Given the description of an element on the screen output the (x, y) to click on. 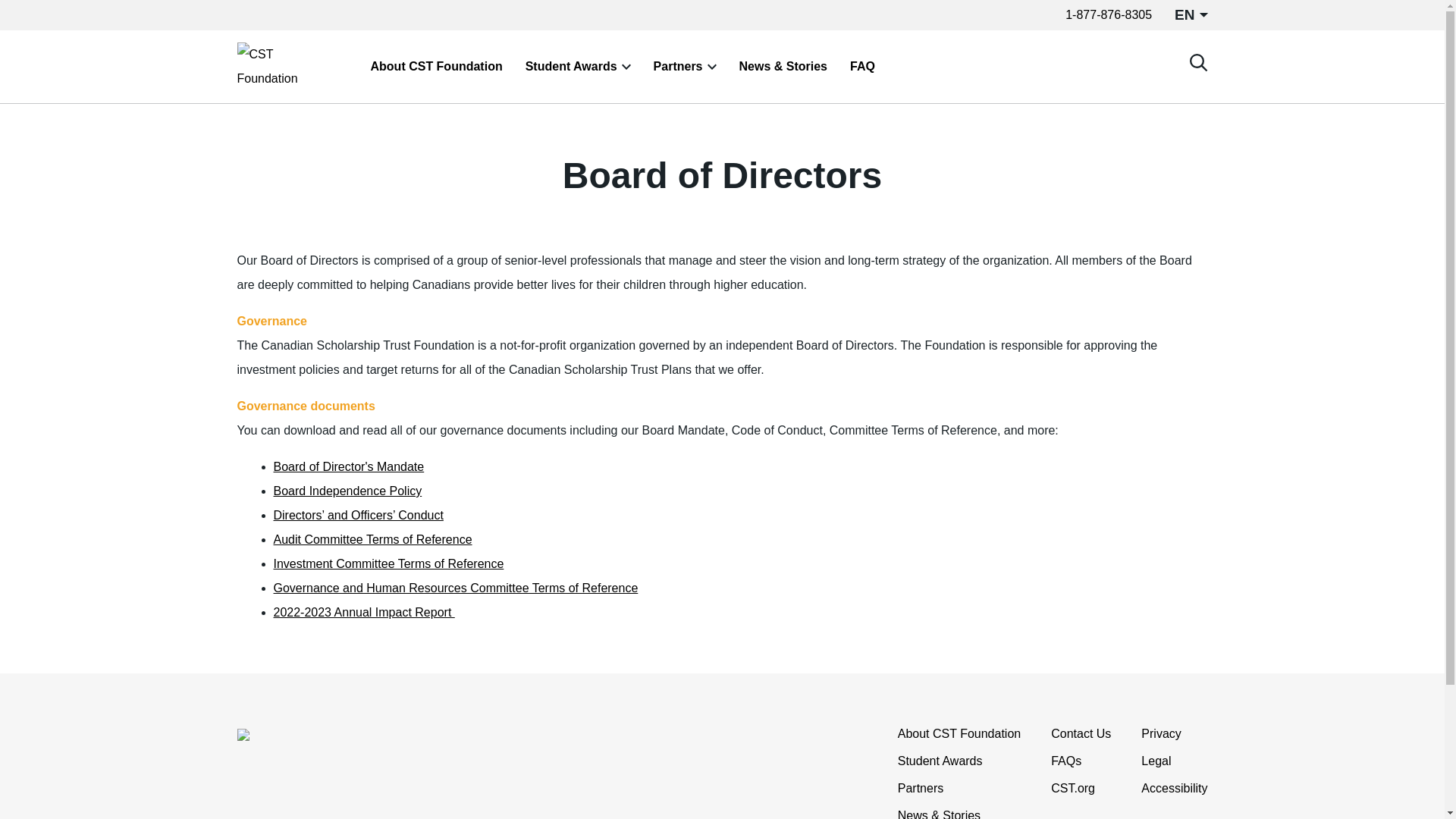
About CST Foundation (959, 733)
1-877-876-8305 (1108, 14)
Audit Committee Terms of Reference (372, 539)
Board of Director's Mandate (348, 466)
FAQs (1066, 761)
Legal (1155, 761)
Accessibility (1174, 788)
Student Awards (571, 66)
CST.org (1072, 788)
Governance and Human Resources Committee Terms of Reference (455, 587)
Investment Committee Terms of Reference (388, 563)
Student Awards (940, 761)
Toggle Search Bar (1198, 62)
Privacy (1160, 733)
FAQ (862, 66)
